Given the description of an element on the screen output the (x, y) to click on. 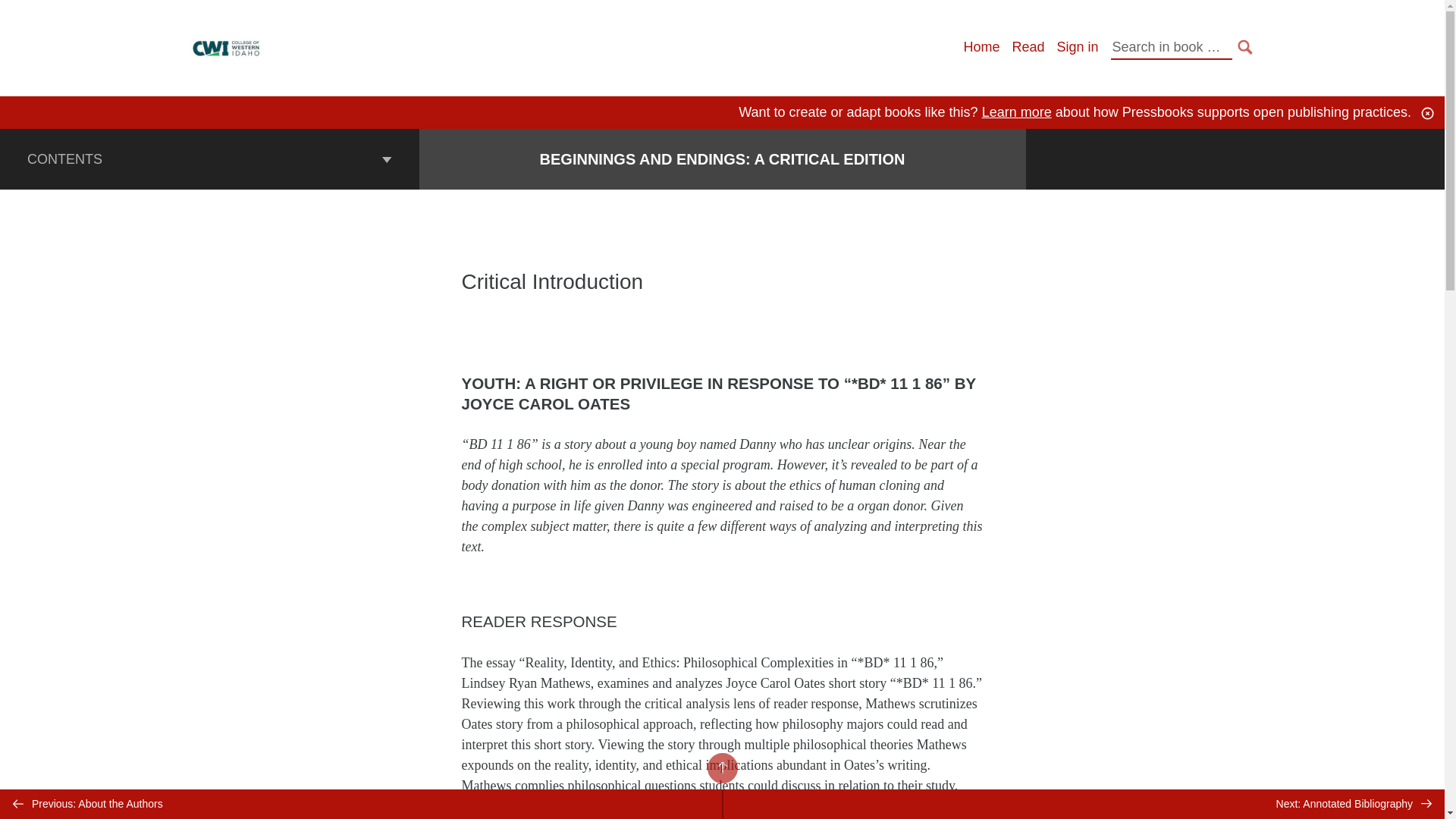
Learn more (1016, 111)
BACK TO TOP (721, 767)
Previous: About the Authors (361, 804)
Sign in (1077, 46)
Previous: About the Authors (361, 804)
Home (980, 46)
BEGINNINGS AND ENDINGS: A CRITICAL EDITION (722, 159)
CONTENTS (209, 158)
Read (1027, 46)
